Given the description of an element on the screen output the (x, y) to click on. 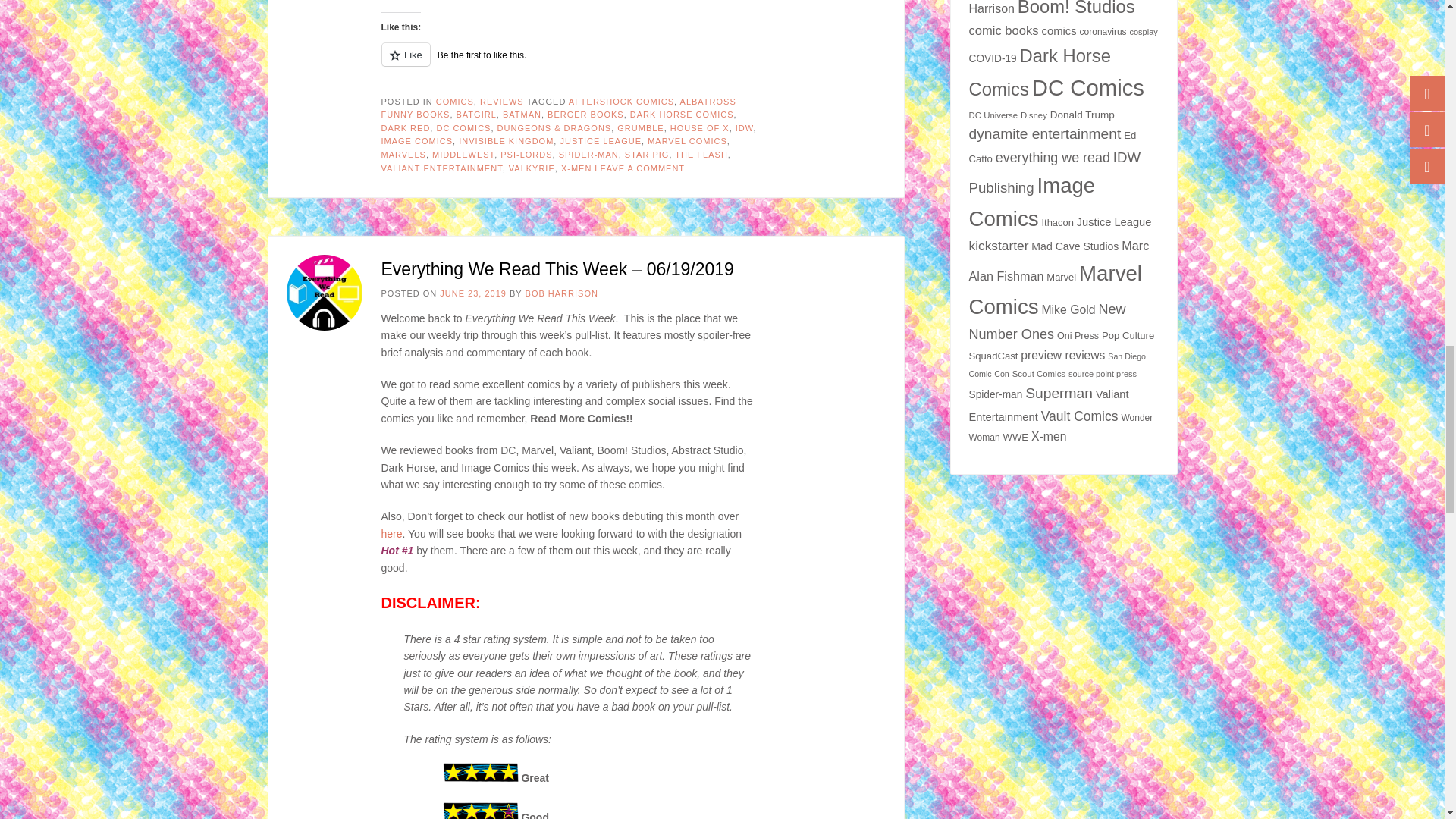
Like or Reblog (568, 63)
